Given the description of an element on the screen output the (x, y) to click on. 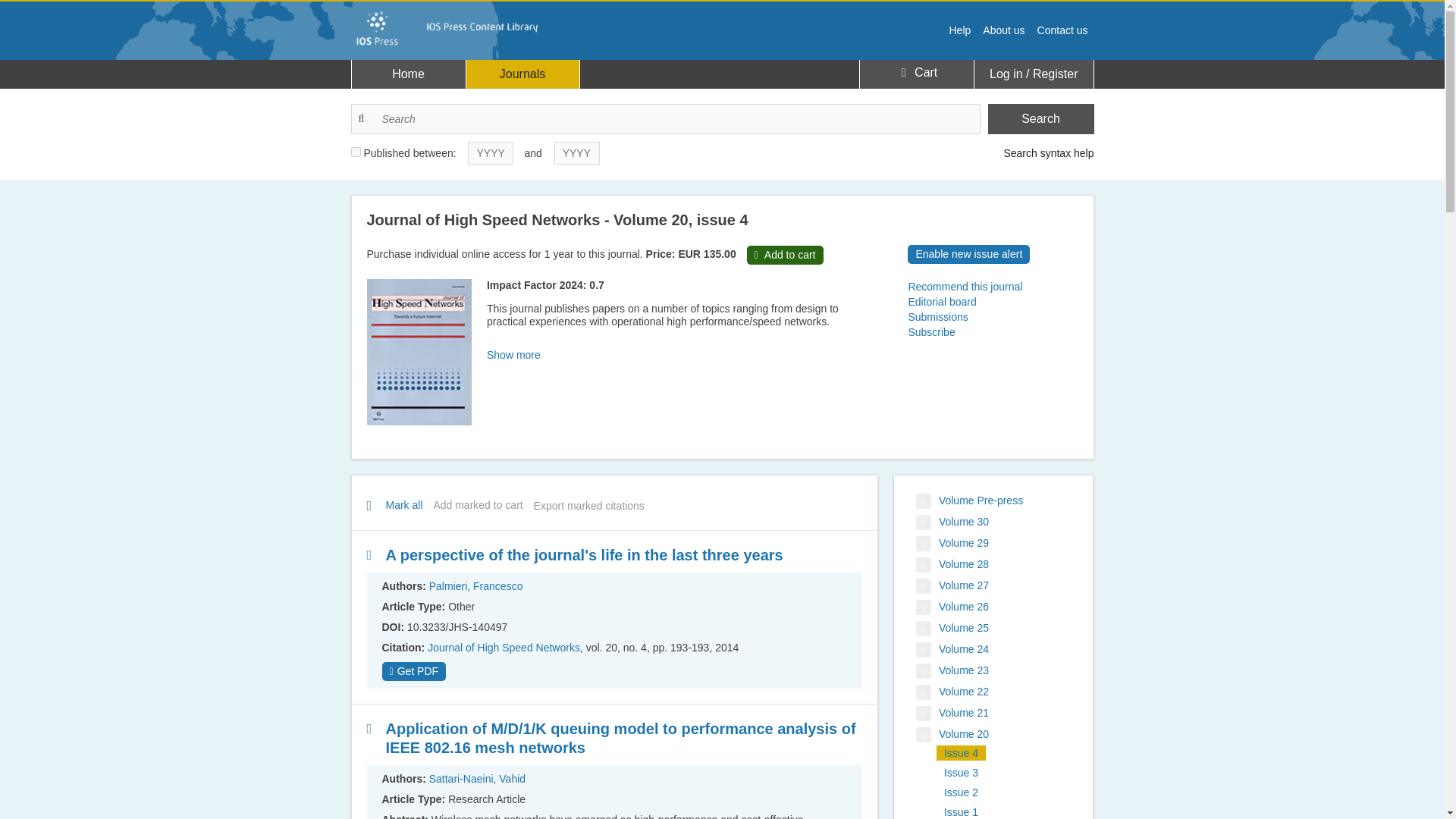
Search (1040, 119)
Show more (513, 354)
Export marked citations (589, 505)
Press to access issues within this volume (951, 713)
Recommend this journal (992, 286)
Contact us (1061, 30)
Press to access issues within this volume (969, 501)
Press to access issues within this volume (951, 692)
Submissions (992, 316)
Press to access issues within this volume (951, 606)
Press to access issues within this volume (951, 628)
Enable new issue alert (968, 253)
on (354, 152)
Add to cart (785, 254)
Press to access issues within this volume (951, 586)
